Given the description of an element on the screen output the (x, y) to click on. 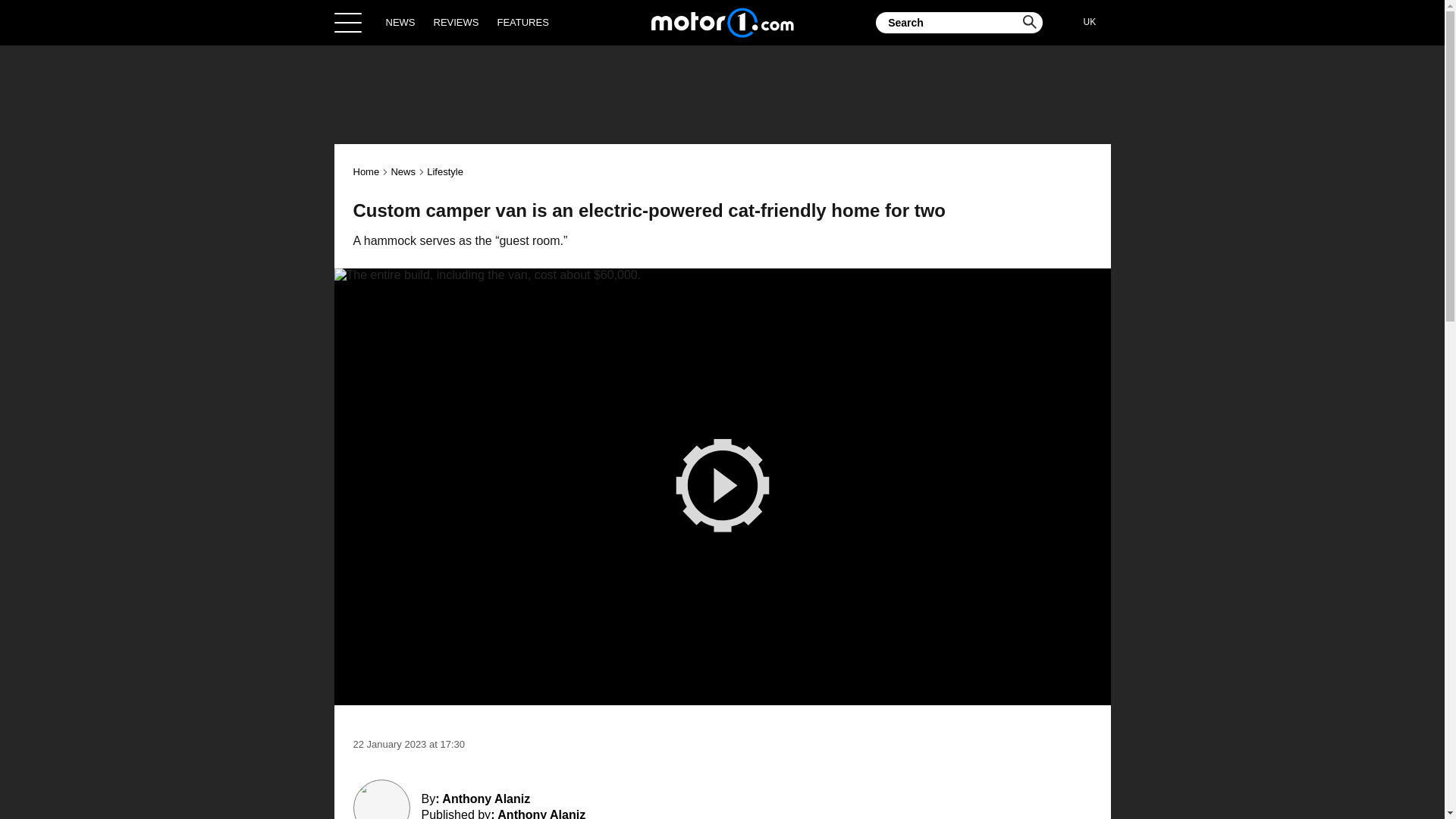
REVIEWS (456, 22)
Home (721, 22)
Anthony Alaniz (541, 813)
Home (366, 171)
Lifestyle (444, 171)
News (402, 171)
FEATURES (522, 22)
NEWS (399, 22)
